Given the description of an element on the screen output the (x, y) to click on. 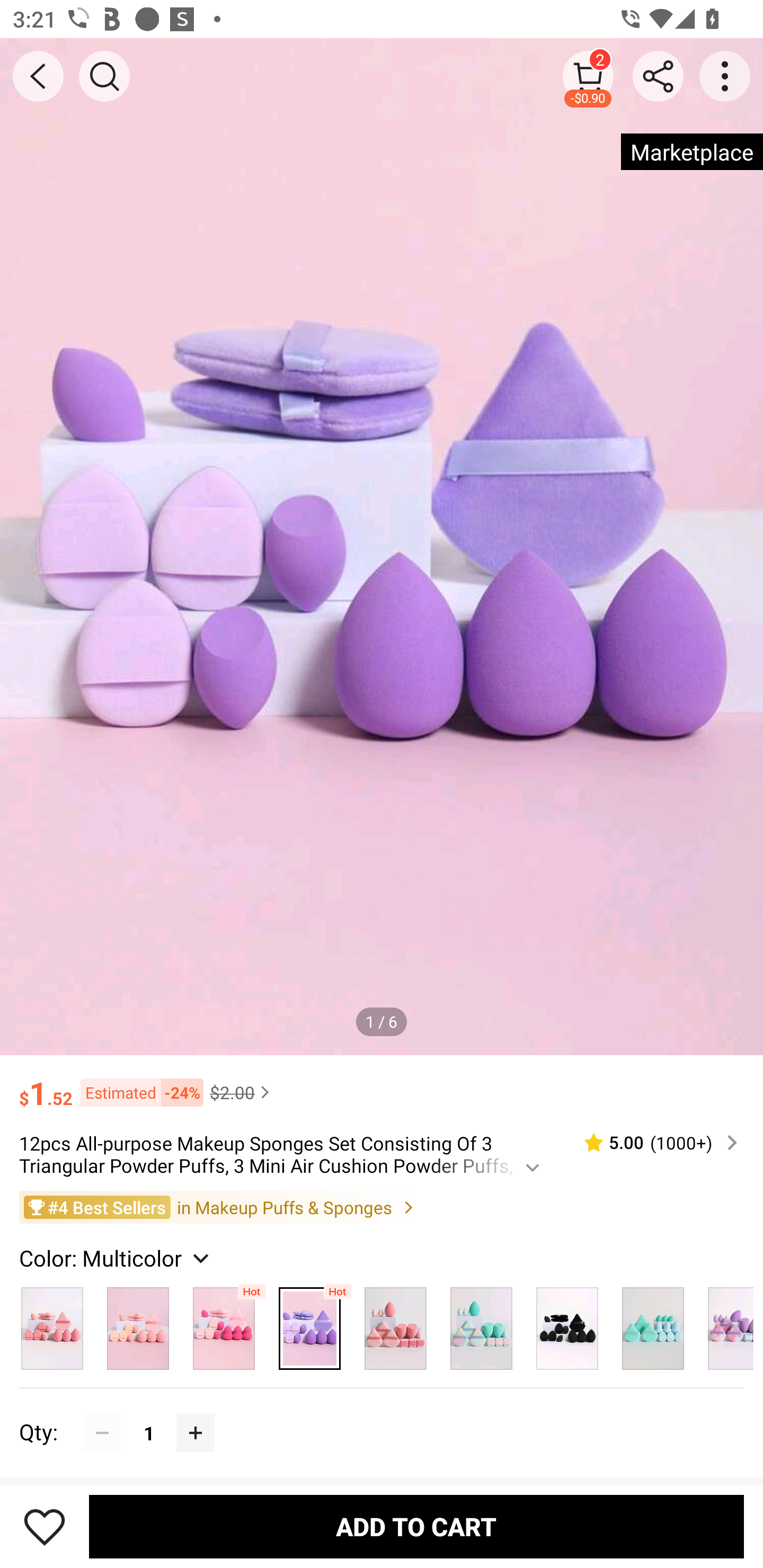
BACK (38, 75)
2 -$0.90 (588, 75)
1 / 6 (381, 1021)
$1.52 Estimated -24% $2.00 (381, 1084)
Estimated -24% (137, 1092)
$2.00 (241, 1091)
5.00 (1000‎+) (653, 1142)
#4 Best Sellers in Makeup Puffs & Sponges (381, 1206)
Color: Multicolor (116, 1258)
Multicolor (52, 1324)
Pink (138, 1324)
Multicolor (224, 1324)
Multicolor (309, 1324)
Multicolor (395, 1324)
Multicolor (481, 1324)
Multicolor (567, 1324)
Multicolor (652, 1324)
Qty: 1 (381, 1413)
ADD TO CART (416, 1526)
Save (44, 1526)
